Given the description of an element on the screen output the (x, y) to click on. 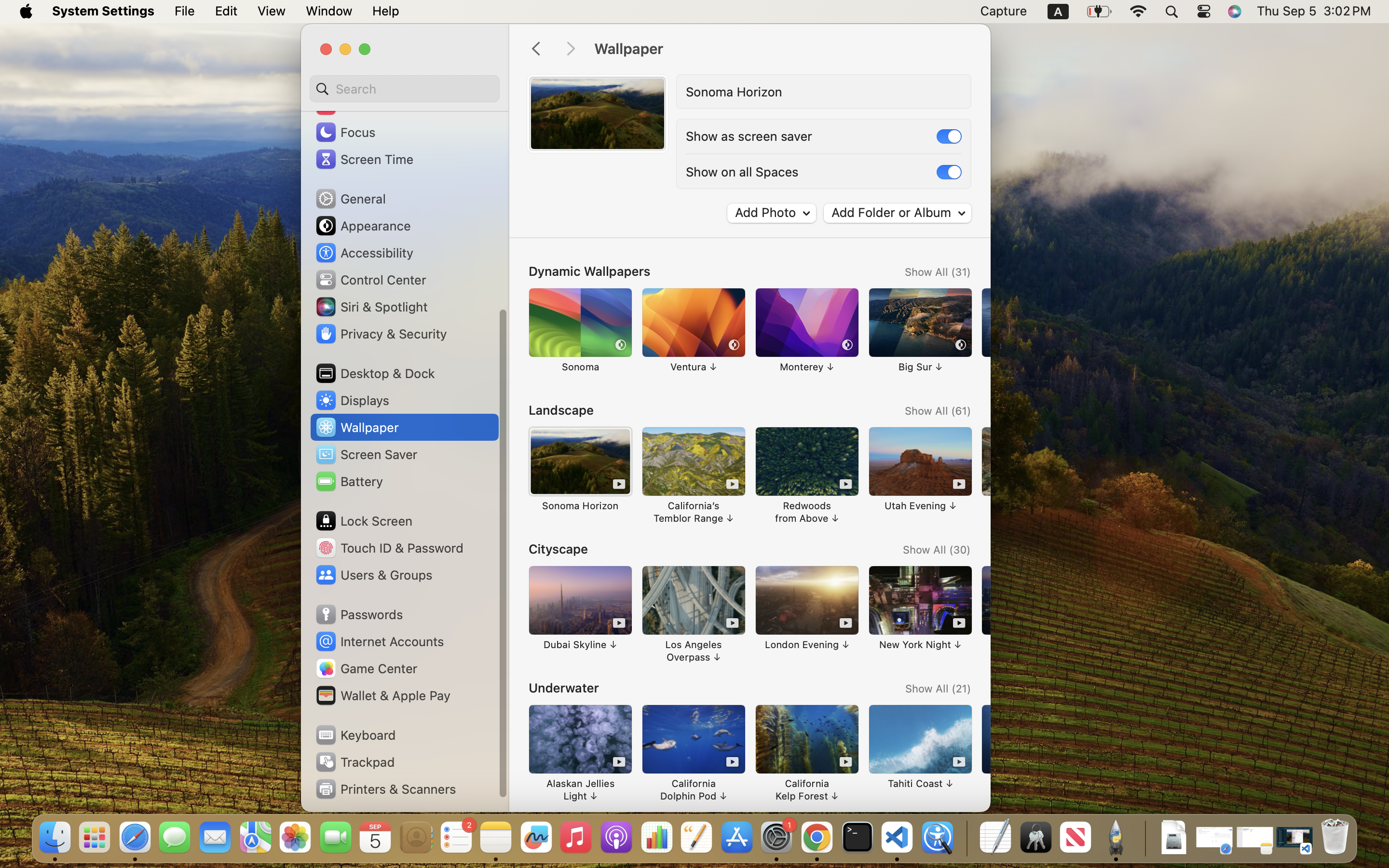
Passwords Element type: AXStaticText (358, 613)
Show on all Spaces Element type: AXStaticText (741, 171)
Show as screen saver Element type: AXStaticText (748, 135)
Users & Groups Element type: AXStaticText (373, 574)
0.4285714328289032 Element type: AXDockItem (965, 837)
